Given the description of an element on the screen output the (x, y) to click on. 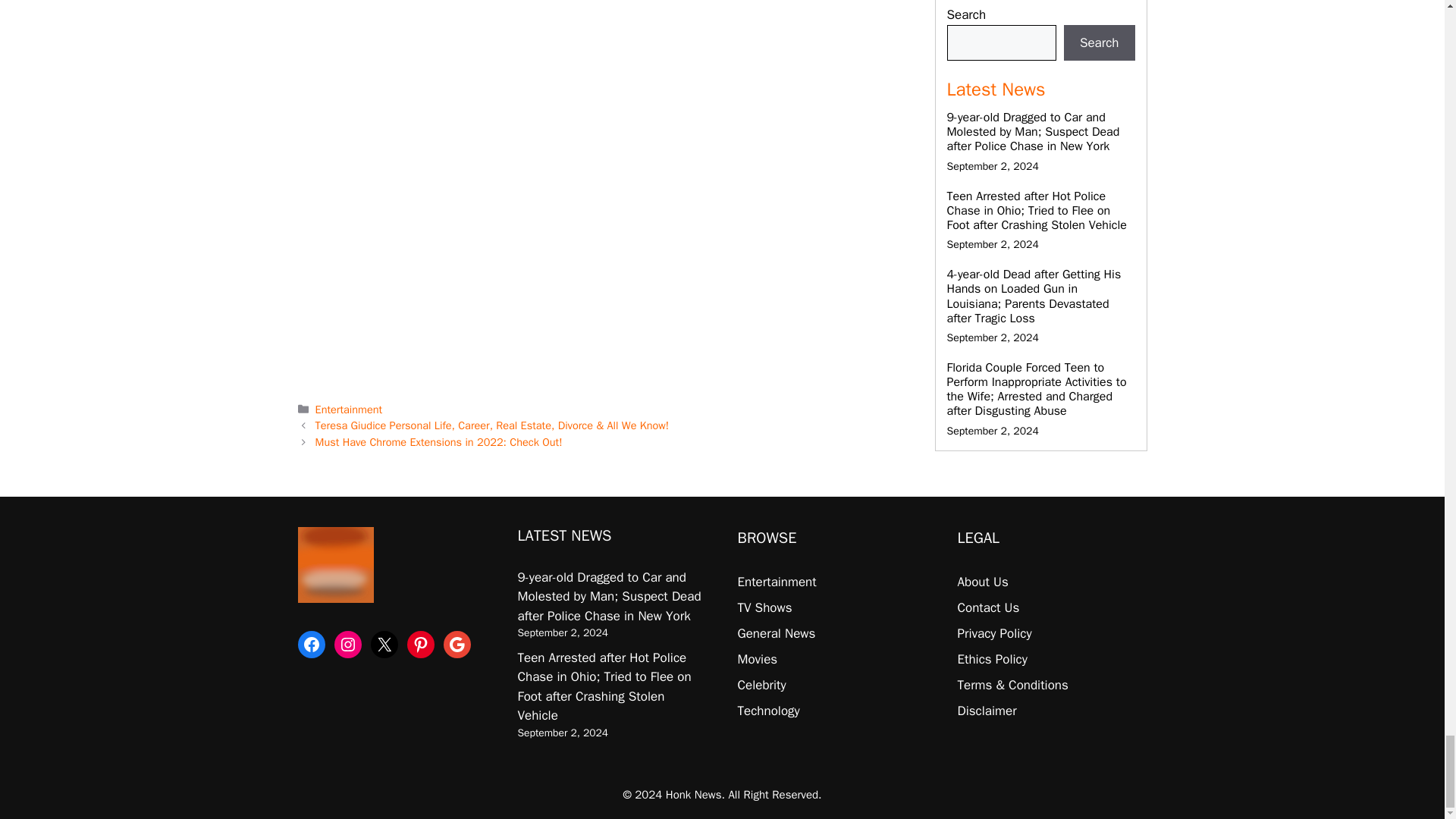
Facebook (310, 644)
Must Have Chrome Extensions in 2022: Check Out! (438, 441)
Entertainment (348, 409)
